Given the description of an element on the screen output the (x, y) to click on. 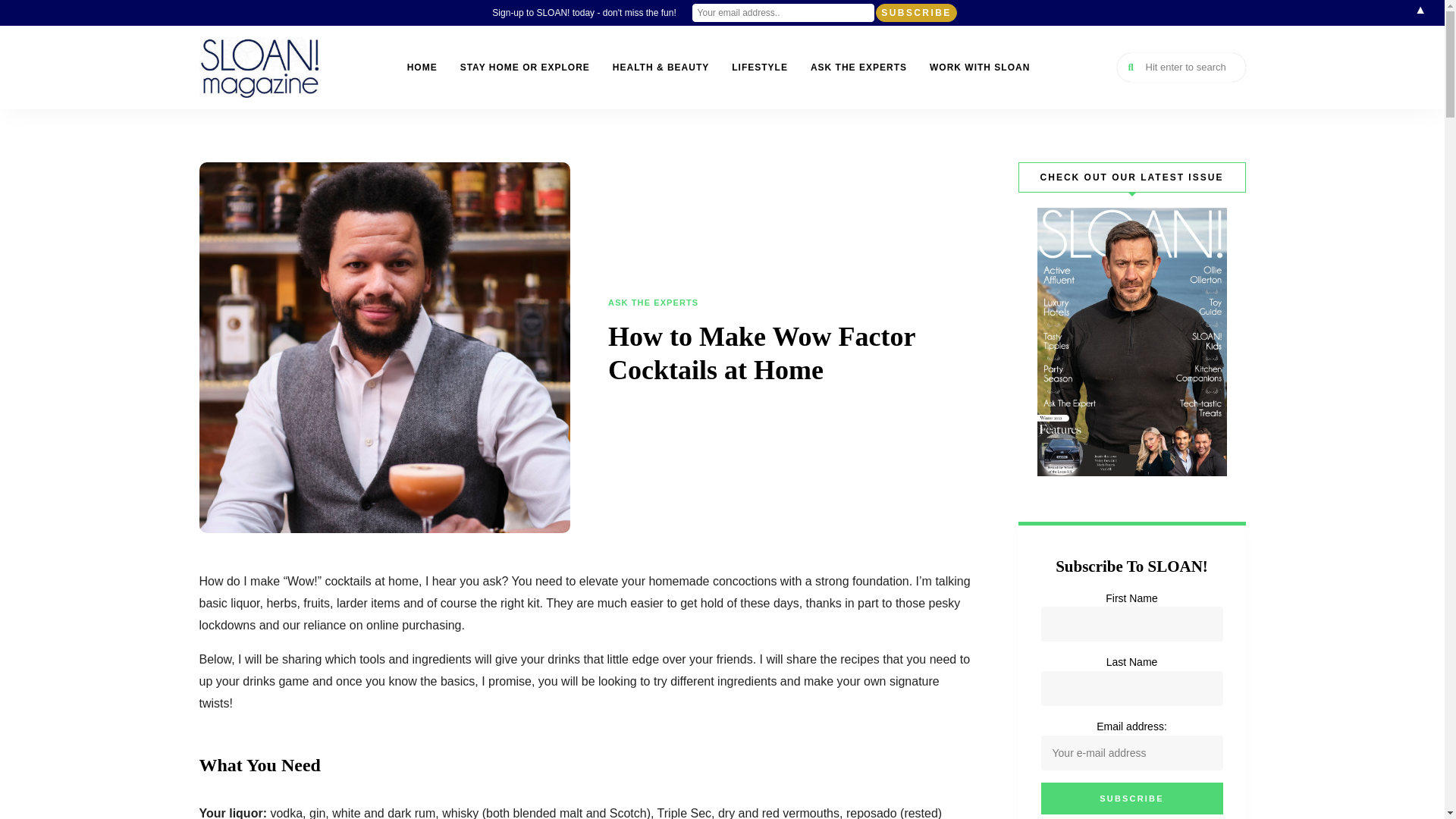
Subscribe (1132, 798)
STAY HOME OR EXPLORE (524, 67)
Subscribe (916, 13)
